Given the description of an element on the screen output the (x, y) to click on. 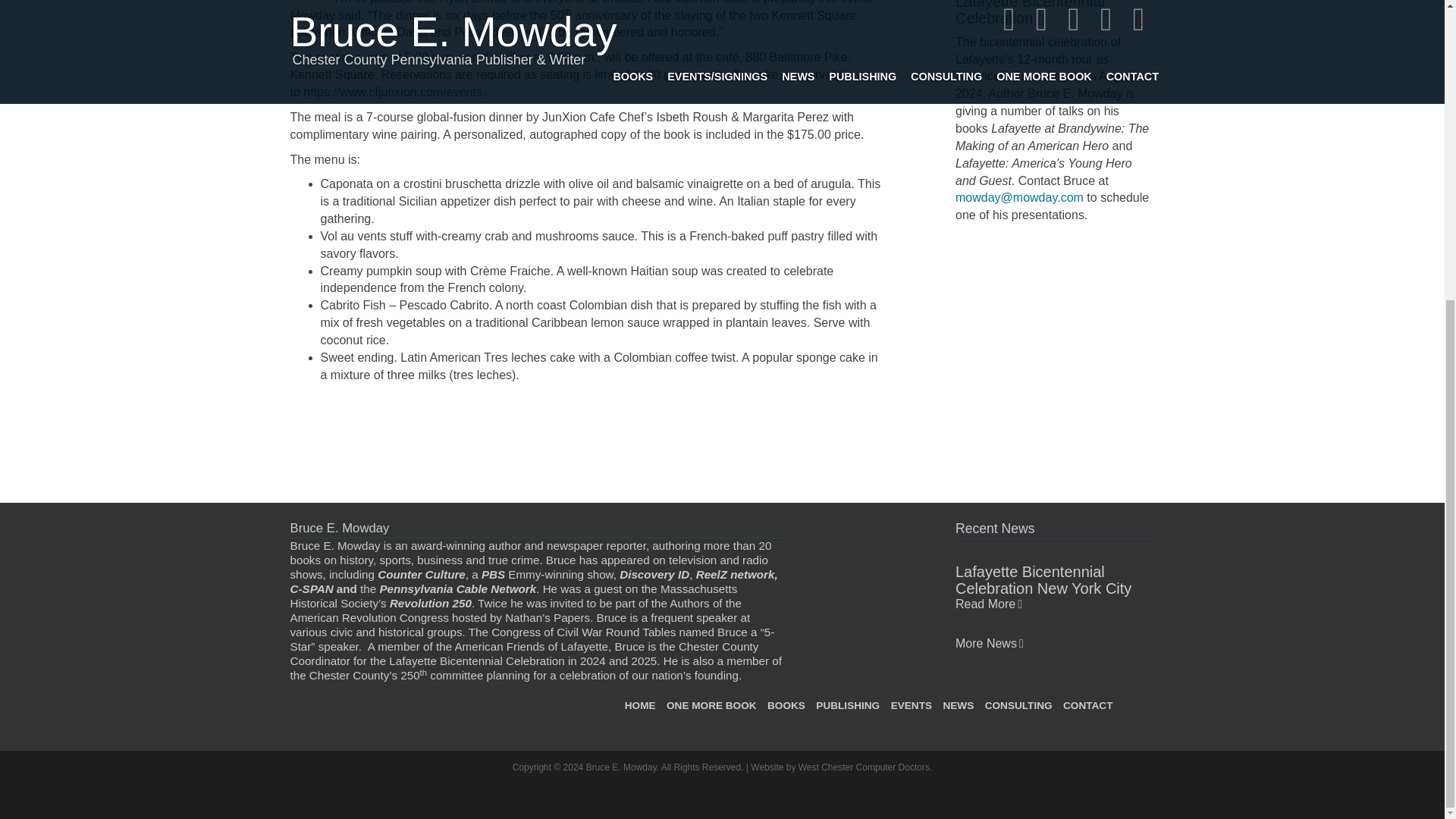
Website by West Chester Computer Doctors (840, 767)
CONSULTING (1019, 705)
PUBLISHING (847, 705)
ONE MORE BOOK (711, 705)
CONTACT (1087, 705)
BOOKS (785, 705)
More News (989, 643)
NEWS (957, 705)
More News (989, 643)
Lafayette Bicentennial Celebration New York City (1043, 580)
